Given the description of an element on the screen output the (x, y) to click on. 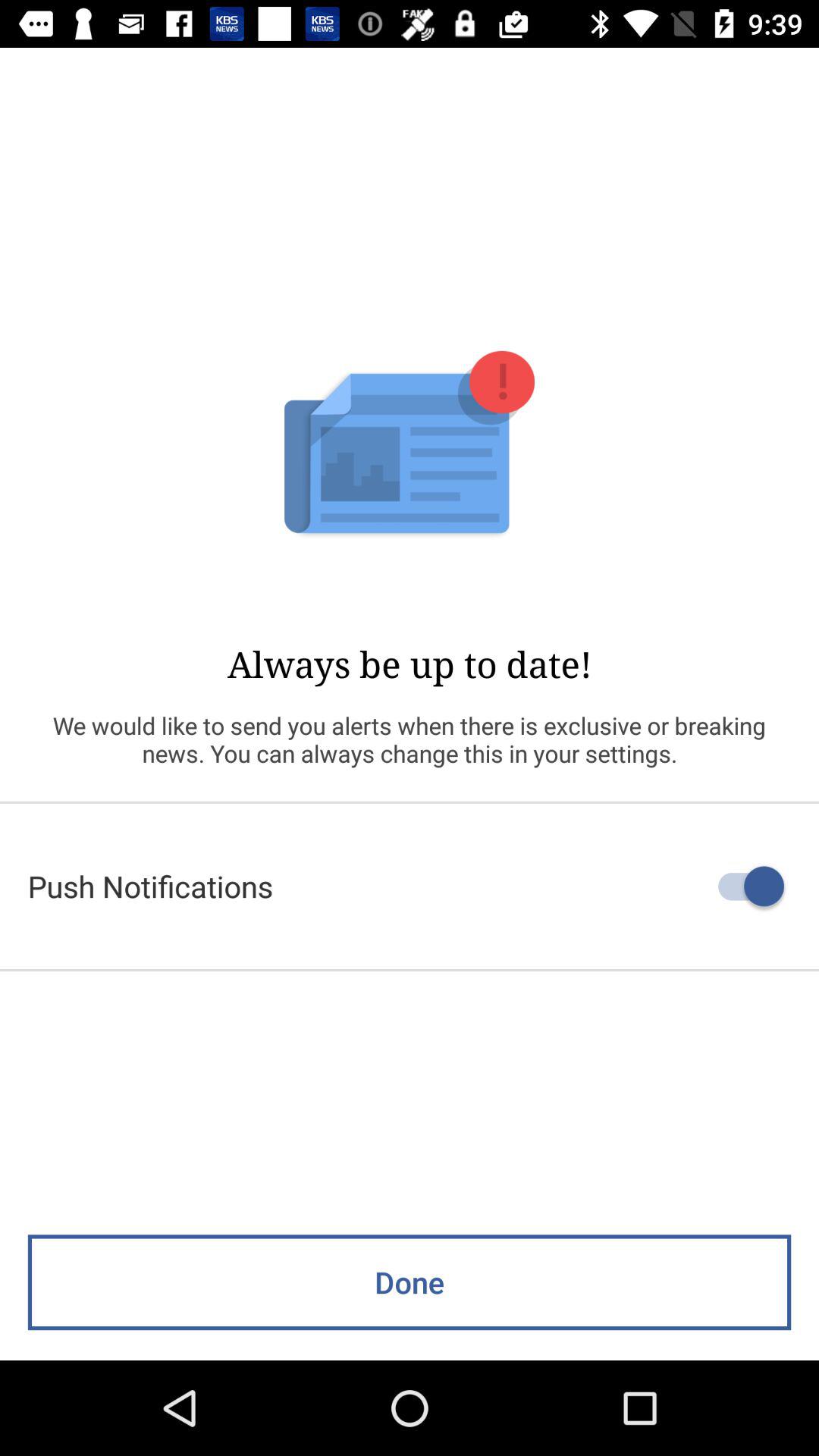
scroll until done item (409, 1282)
